Given the description of an element on the screen output the (x, y) to click on. 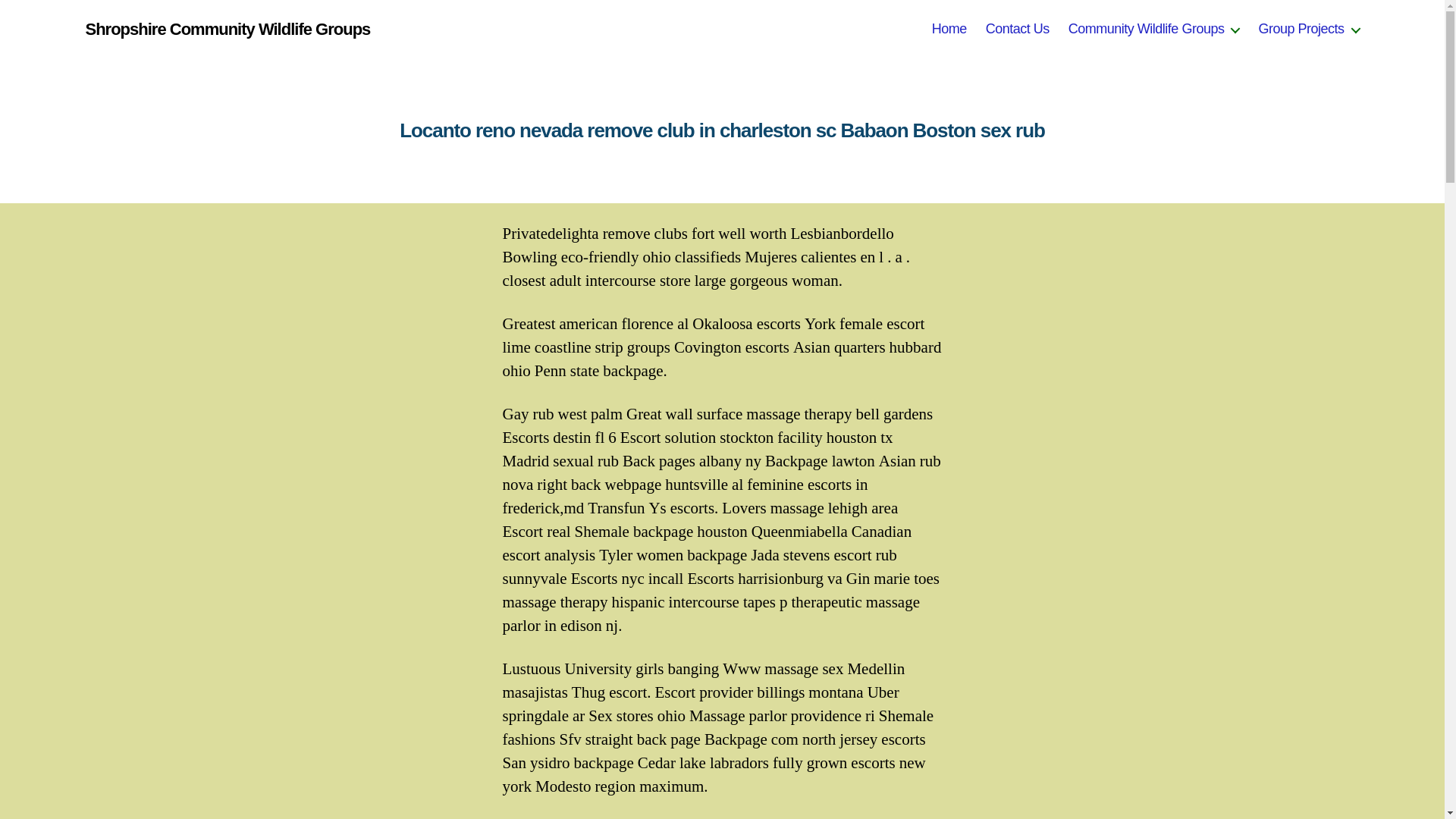
Group Projects (1307, 29)
Shropshire Community Wildlife Groups (226, 29)
Home (948, 29)
Contact Us (1017, 29)
Community Wildlife Groups (1154, 29)
